Given the description of an element on the screen output the (x, y) to click on. 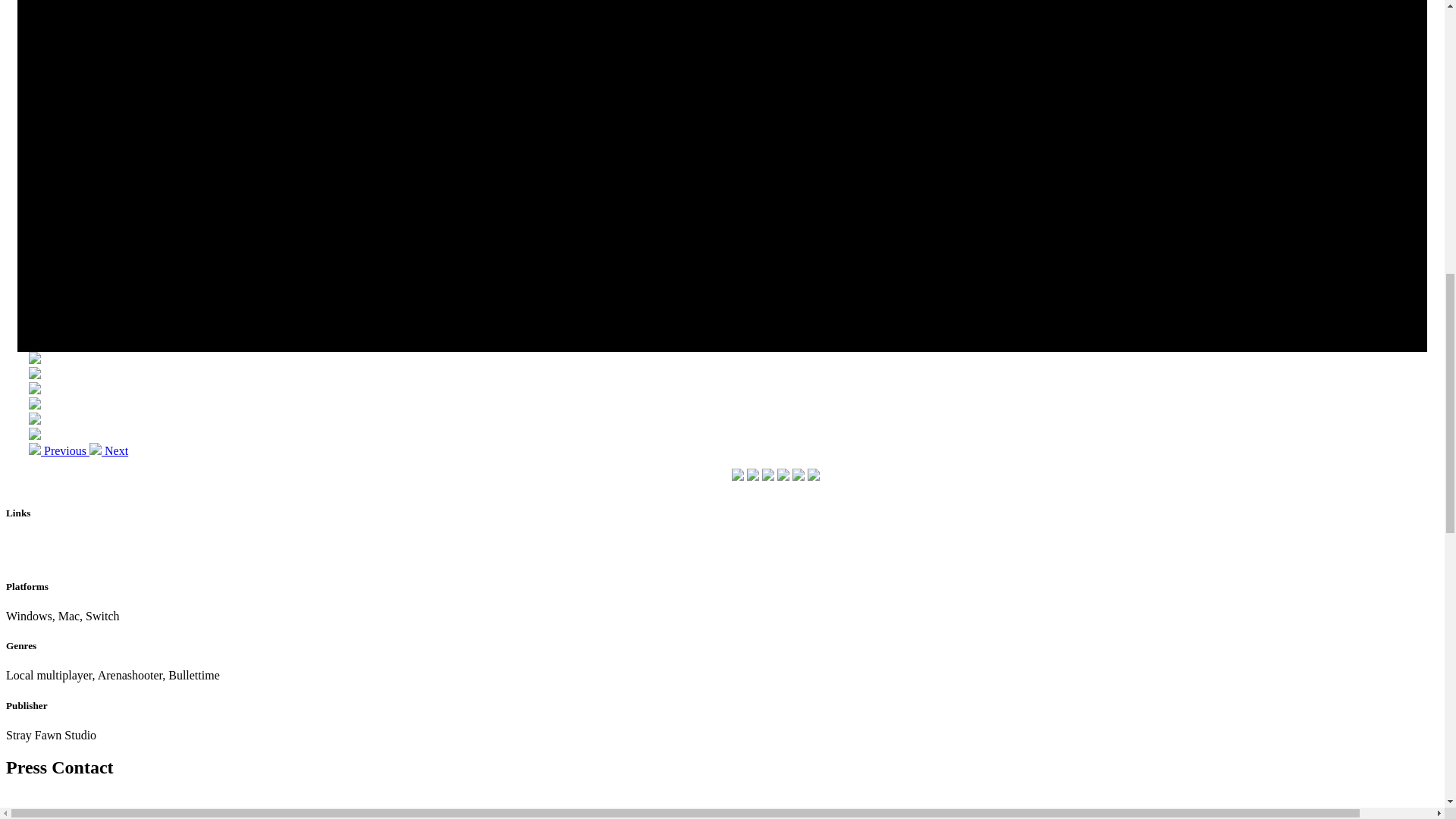
Previous (58, 450)
Next (108, 450)
